Given the description of an element on the screen output the (x, y) to click on. 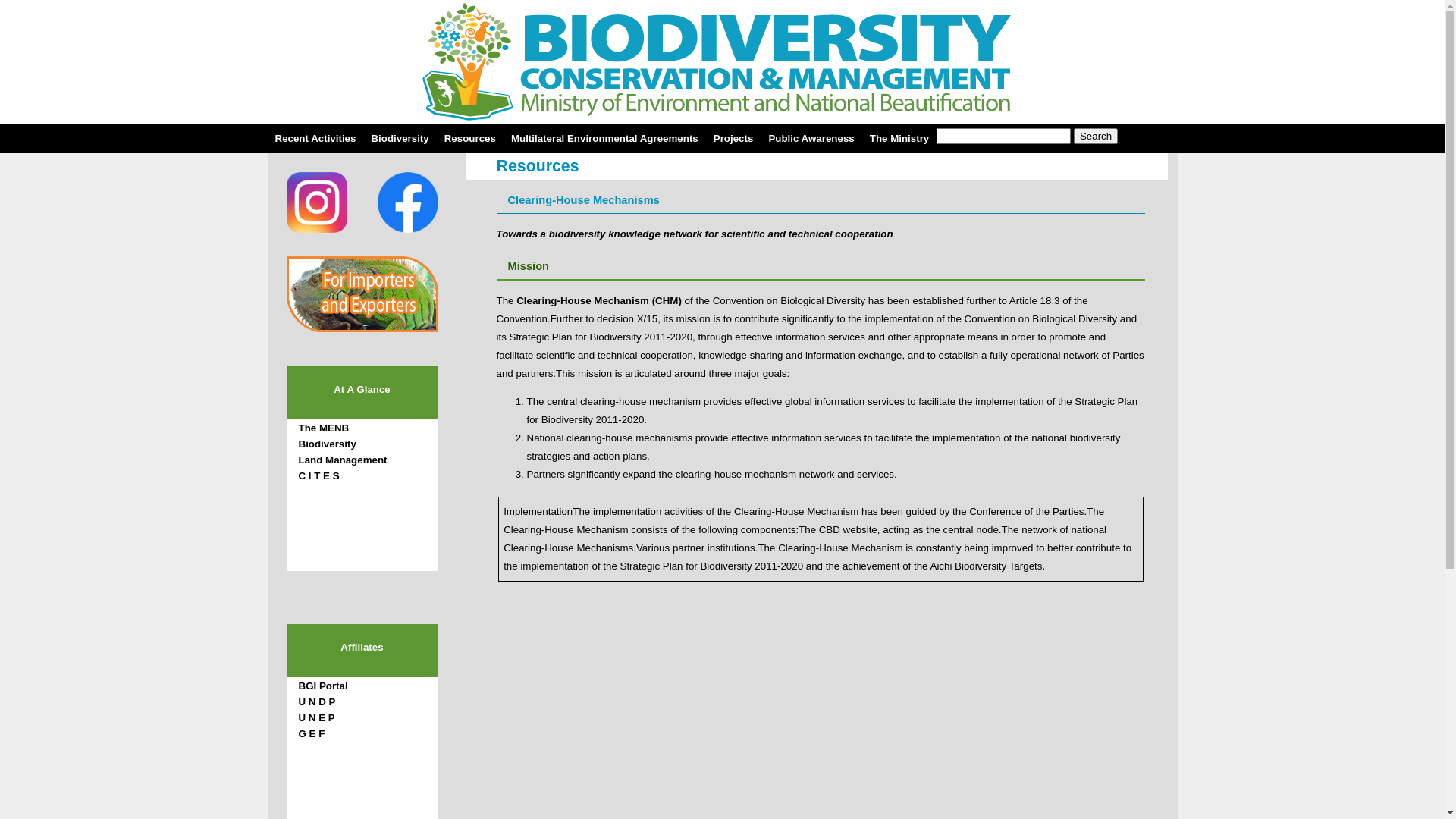
Search Element type: text (1095, 136)
The Ministry Element type: text (899, 138)
BGI Portal Element type: text (323, 685)
The MENB Element type: text (323, 427)
C I T E S Element type: text (318, 475)
U N E P Element type: text (316, 717)
Land Management Element type: text (342, 459)
Biodiversity Element type: text (399, 138)
Multilateral Environmental Agreements Element type: text (604, 138)
Projects Element type: text (733, 138)
Recent Activities Element type: text (314, 138)
Public Awareness Element type: text (810, 138)
G E F Element type: text (311, 733)
Biodiversity Element type: text (327, 443)
Resources Element type: text (469, 138)
U N D P Element type: text (316, 701)
